Given the description of an element on the screen output the (x, y) to click on. 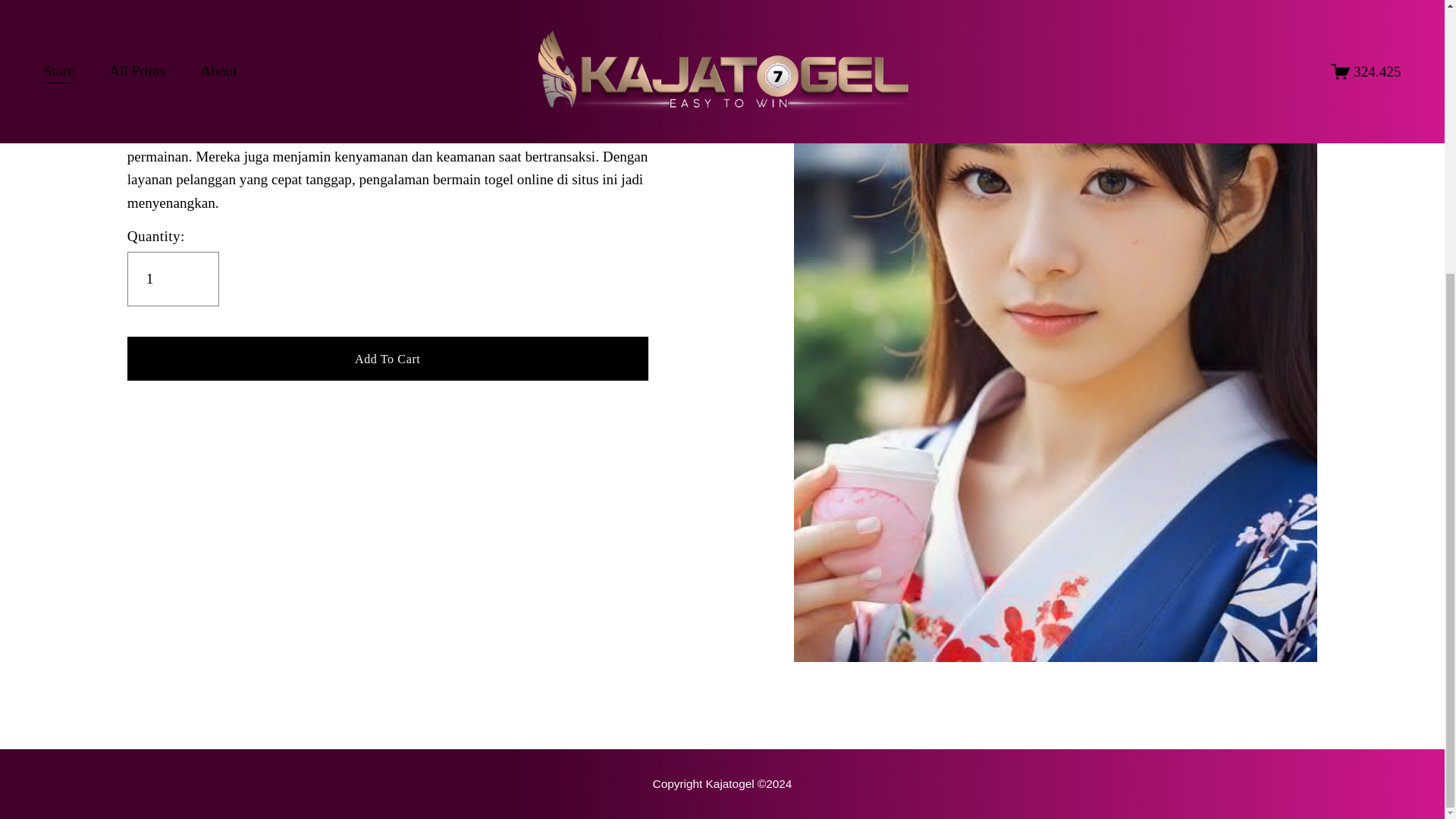
1 (173, 278)
Kajatogel (722, 783)
Kajatogel (156, 85)
Add To Cart (387, 358)
